Given the description of an element on the screen output the (x, y) to click on. 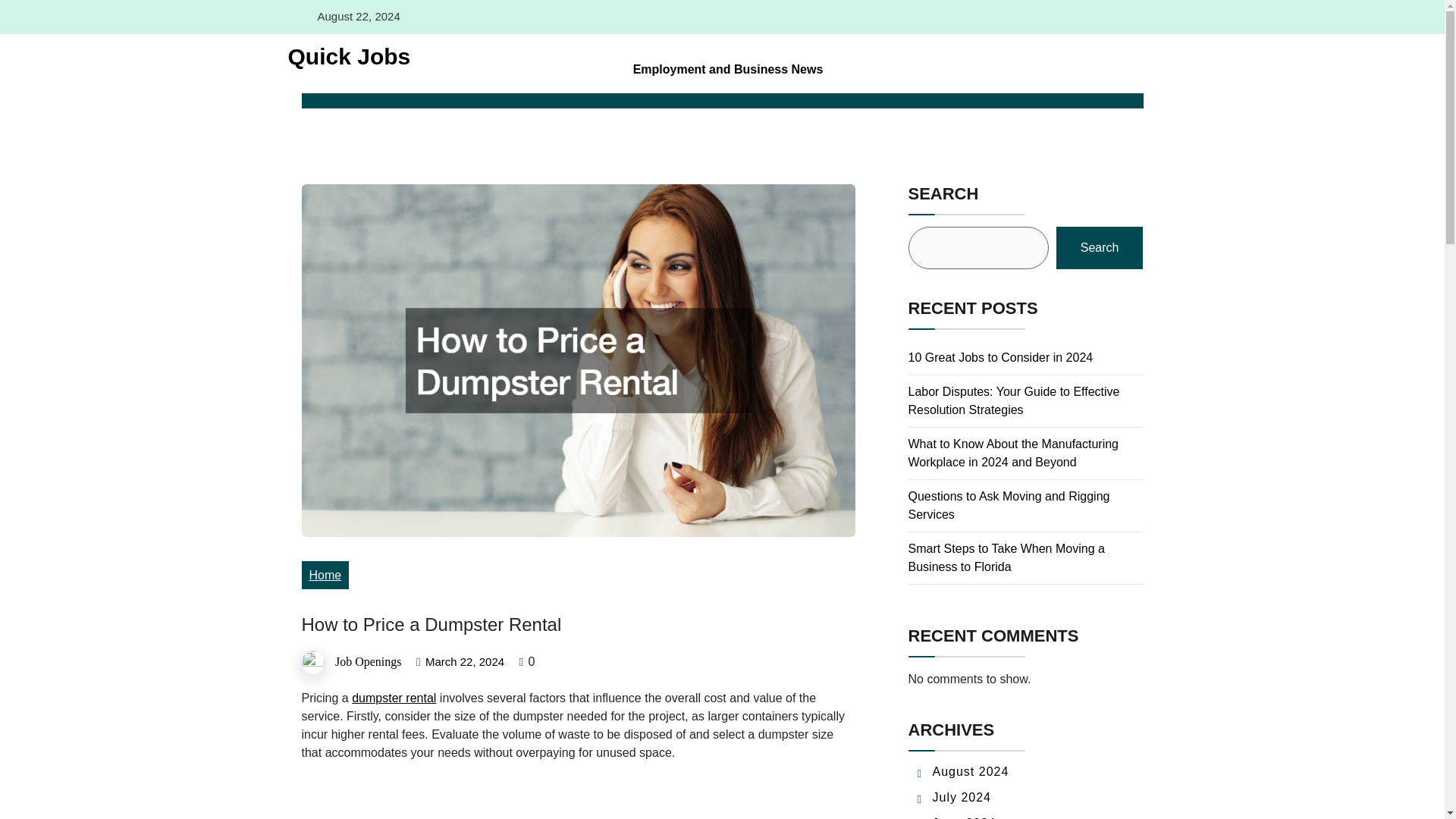
August 2024 (971, 771)
July 2024 (962, 797)
Home (325, 574)
Search (1099, 247)
Quick Jobs (343, 56)
Quick Jobs (343, 56)
Job Openings (367, 661)
June 2024 (964, 817)
dumpster rental (393, 697)
